Given the description of an element on the screen output the (x, y) to click on. 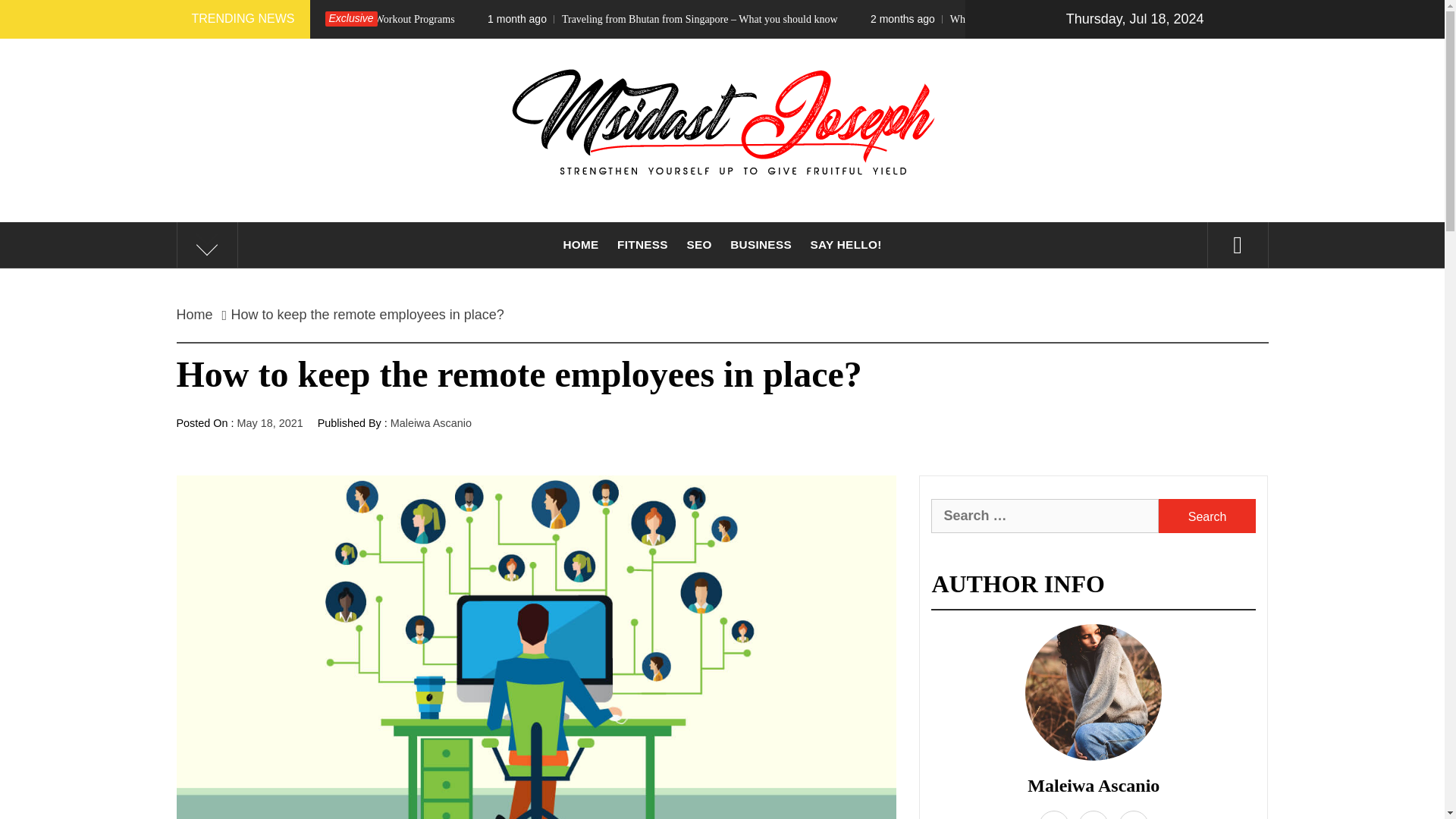
Search (1206, 515)
BUSINESS (760, 244)
SAY HELLO! (845, 244)
MSIDAST JOSEPH (721, 240)
FITNESS (642, 244)
Search (1206, 515)
HOME (579, 244)
